Given the description of an element on the screen output the (x, y) to click on. 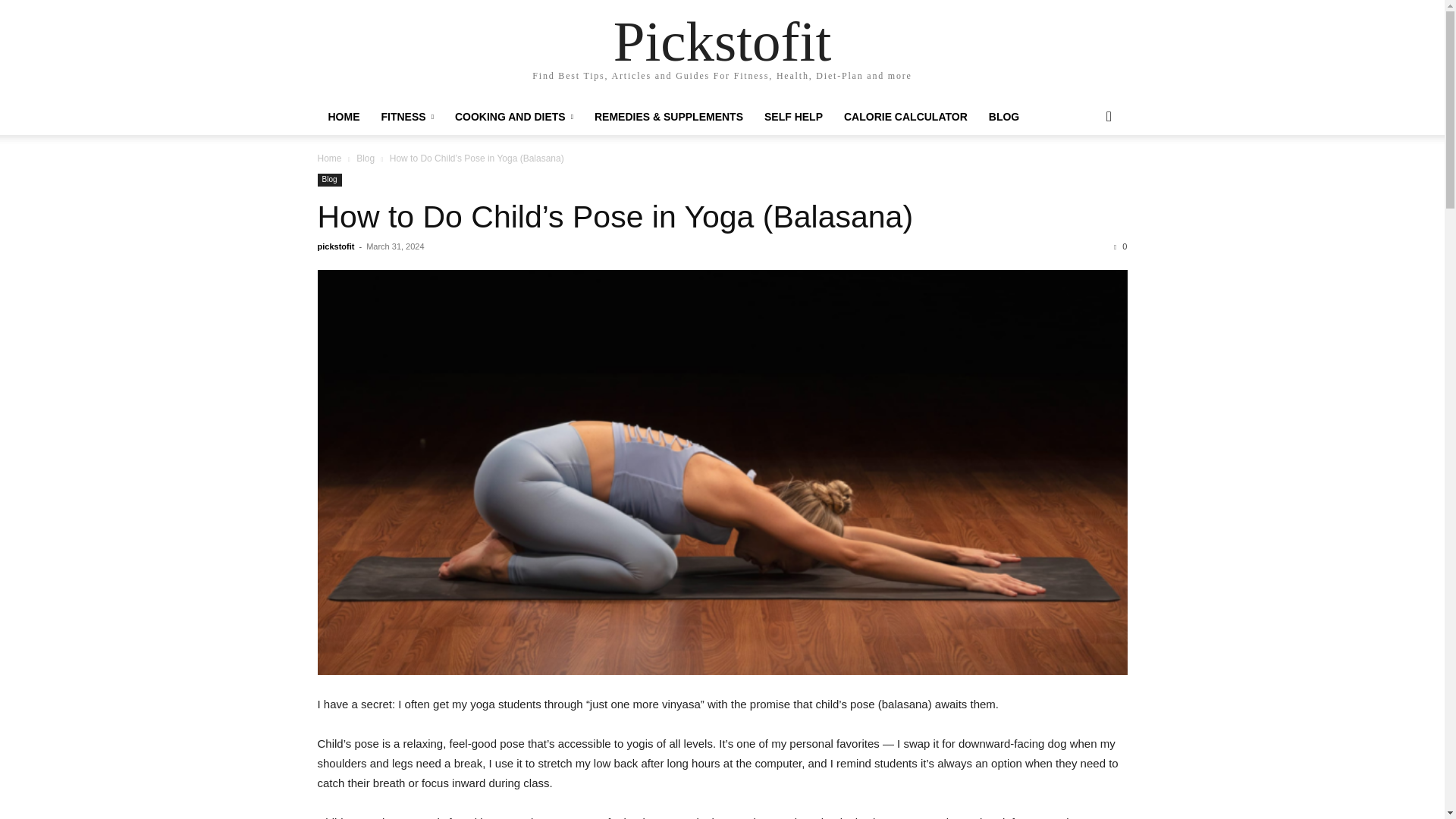
Pickstofit (721, 41)
Home (328, 158)
COOKING AND DIETS (513, 116)
0 (1119, 245)
FITNESS (406, 116)
Blog (365, 158)
CALORIE CALCULATOR (905, 116)
HOME (343, 116)
pickstofit (335, 245)
SELF HELP (793, 116)
